Given the description of an element on the screen output the (x, y) to click on. 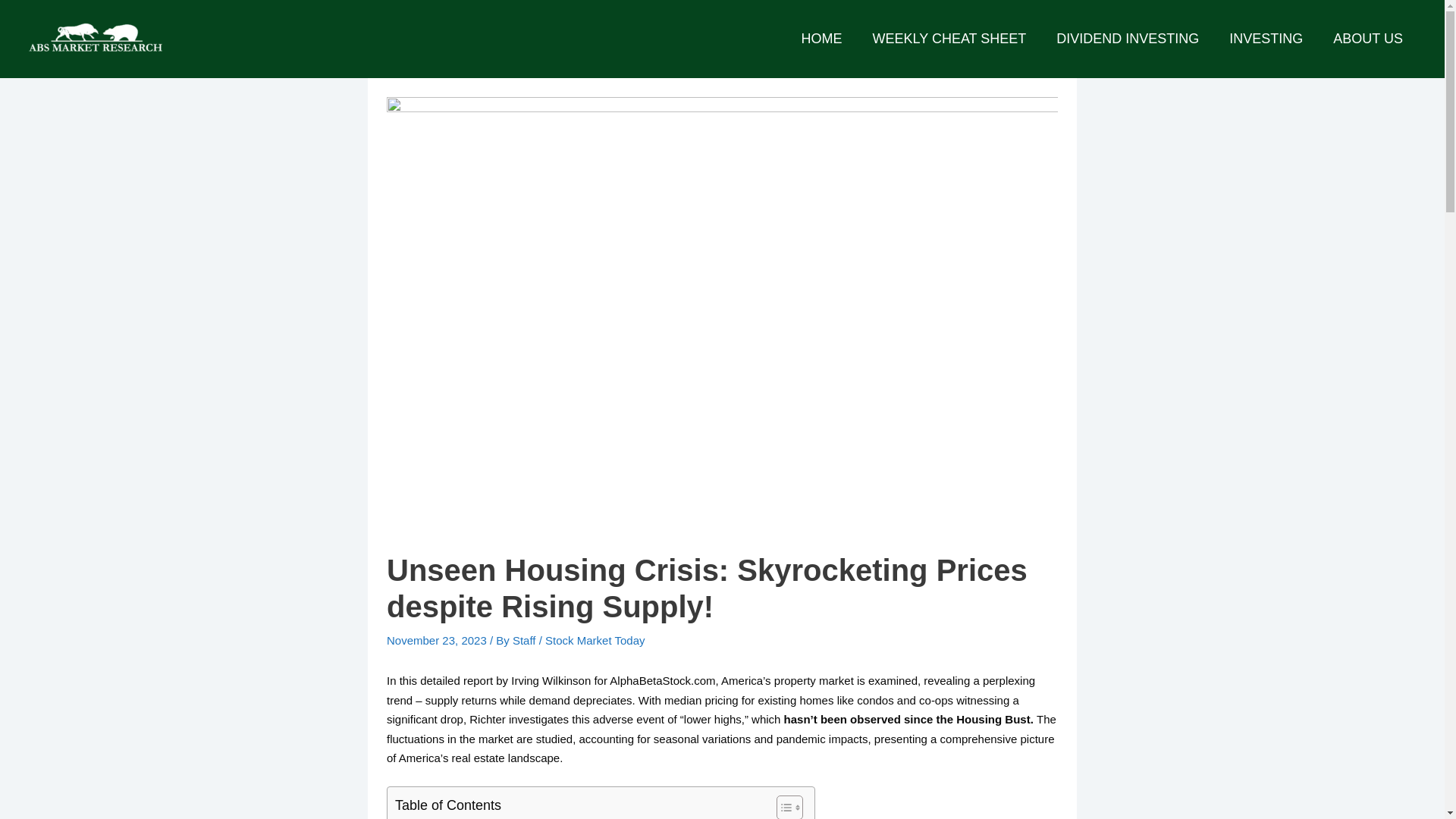
DIVIDEND INVESTING (1127, 38)
View all posts by Staff (525, 640)
INVESTING (1265, 38)
Stock Market Today (594, 640)
HOME (821, 38)
WEEKLY CHEAT SHEET (949, 38)
Staff (525, 640)
ABOUT US (1367, 38)
